Given the description of an element on the screen output the (x, y) to click on. 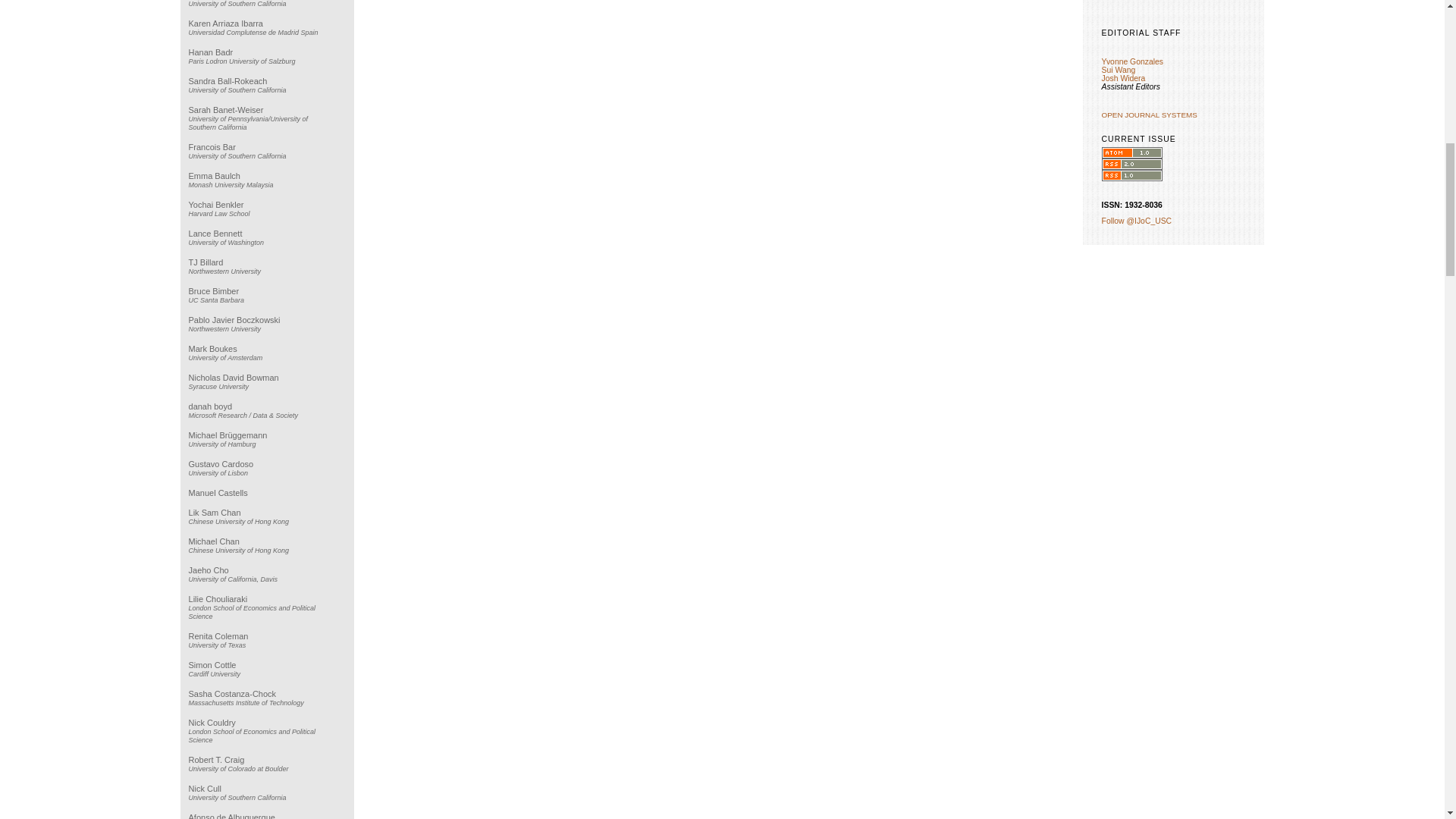
Josh Widera (1123, 78)
OPEN JOURNAL SYSTEMS (1149, 114)
Yvonne Gonzales (1132, 61)
Sui Wang (1118, 70)
